Given the description of an element on the screen output the (x, y) to click on. 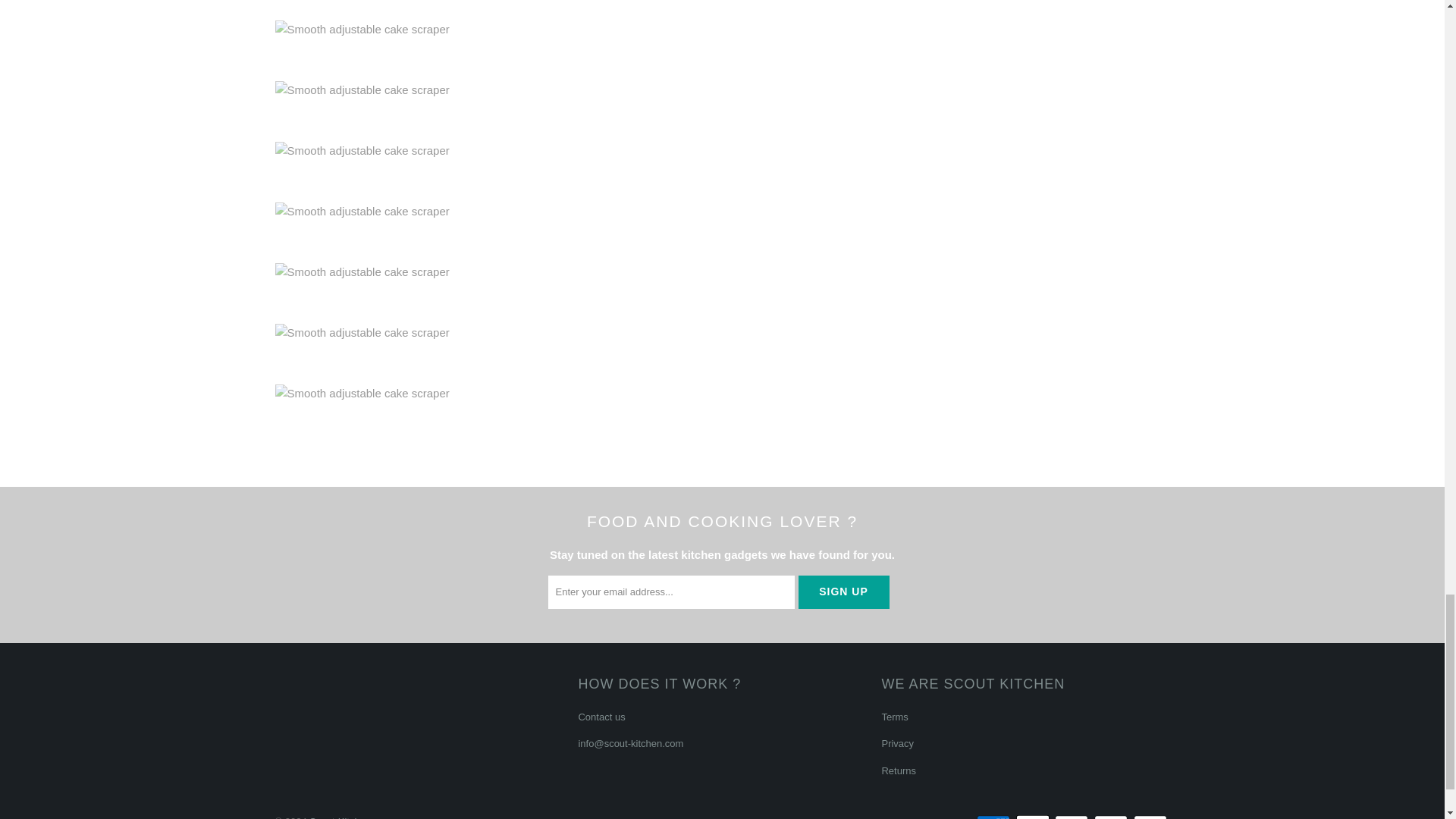
Visa (1150, 816)
Sign Up (842, 591)
Mastercard (1072, 816)
American Express (994, 816)
PayPal (1112, 816)
Apple Pay (1034, 816)
